Given the description of an element on the screen output the (x, y) to click on. 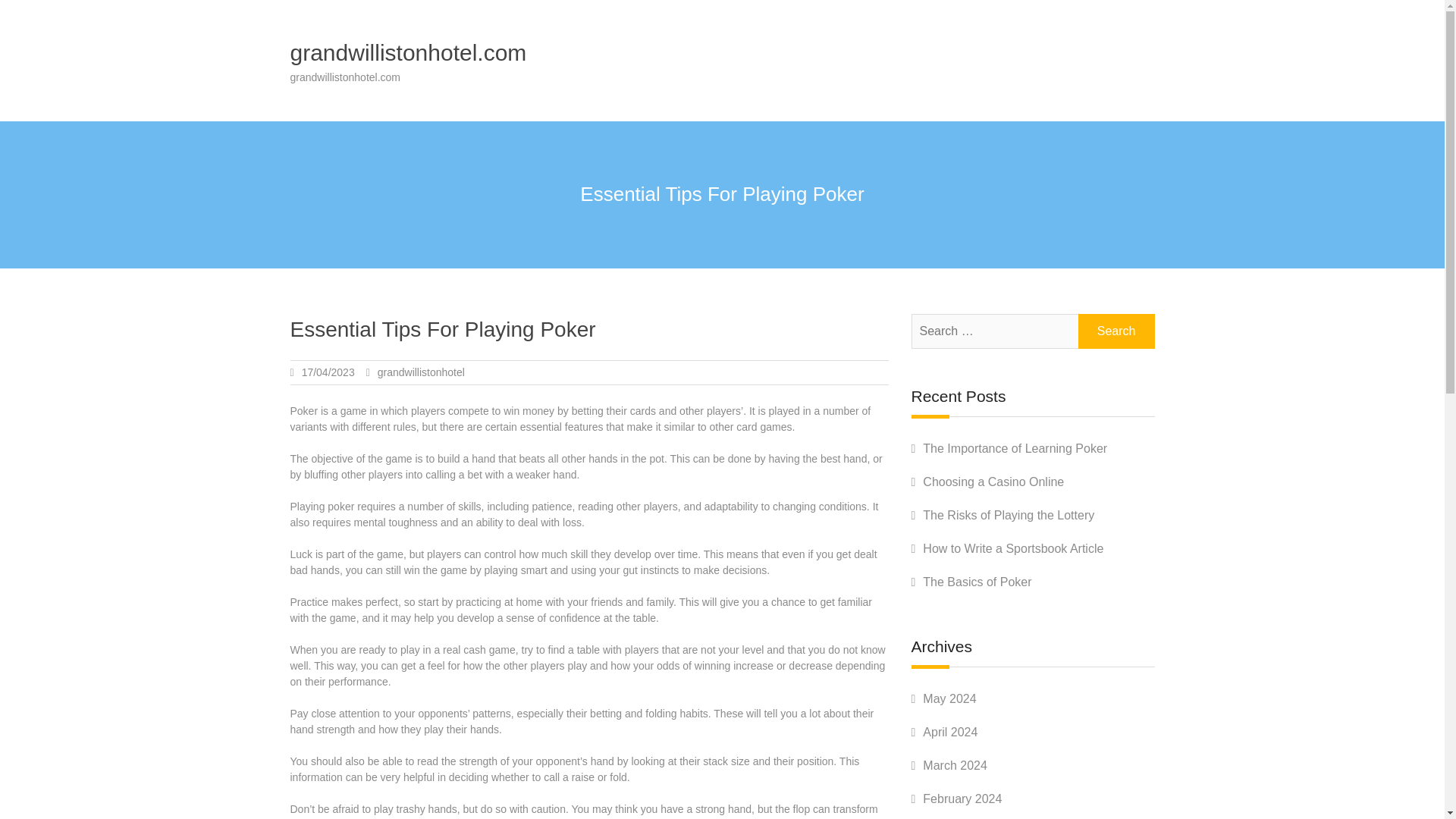
May 2024 (949, 698)
How to Write a Sportsbook Article (1013, 548)
Search (1116, 330)
grandwillistonhotel (420, 372)
April 2024 (949, 731)
The Importance of Learning Poker (1014, 448)
The Basics of Poker (976, 581)
Choosing a Casino Online (993, 481)
February 2024 (962, 798)
The Risks of Playing the Lottery (1008, 514)
March 2024 (955, 765)
Search (1116, 330)
Search (1116, 330)
grandwillistonhotel.com (407, 52)
